Given the description of an element on the screen output the (x, y) to click on. 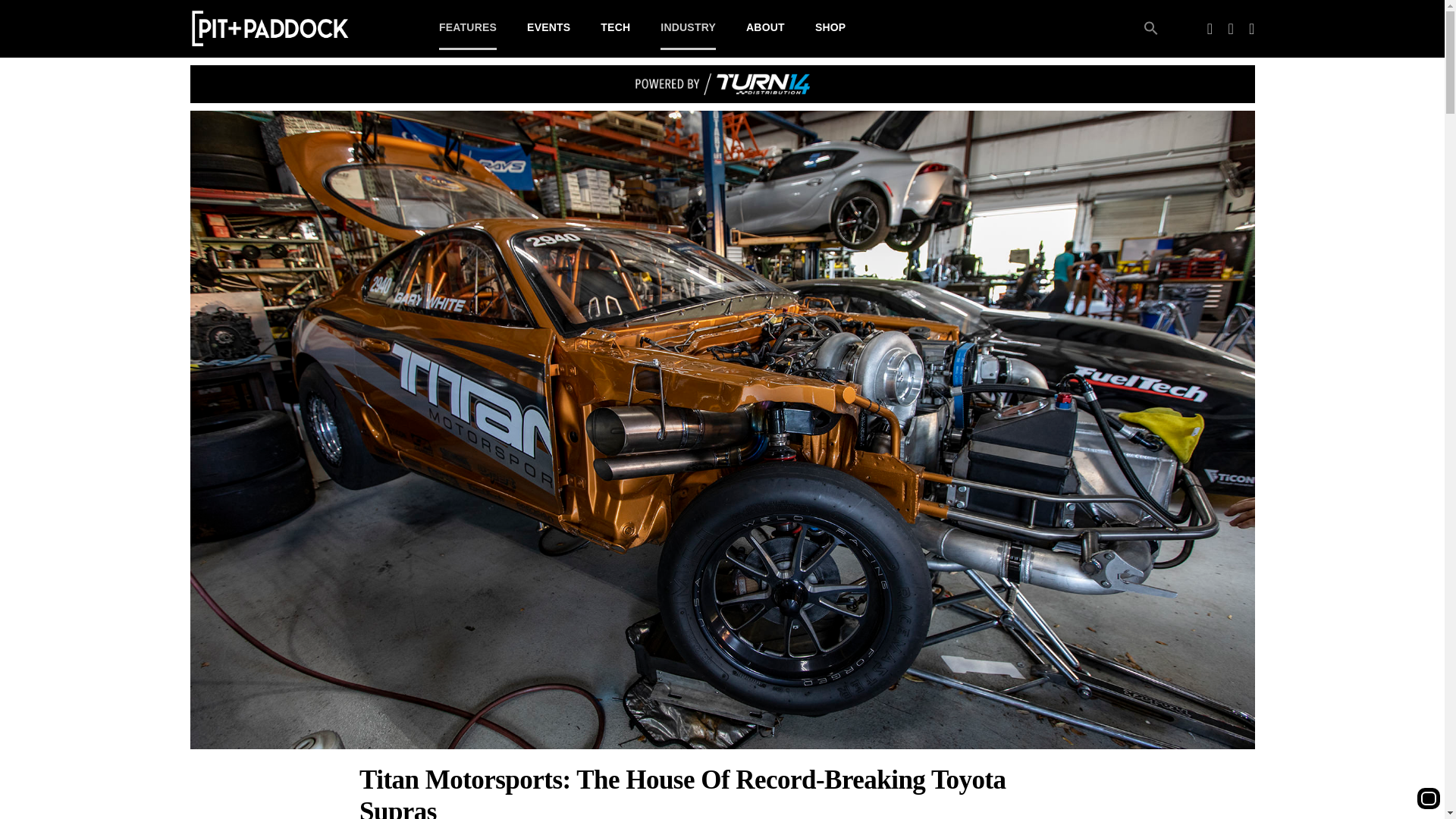
ABOUT (764, 28)
INDUSTRY (688, 28)
powered-by-turn14 (721, 83)
EVENTS (548, 28)
FEATURES (467, 28)
Accessibility Menu (1427, 798)
